Given the description of an element on the screen output the (x, y) to click on. 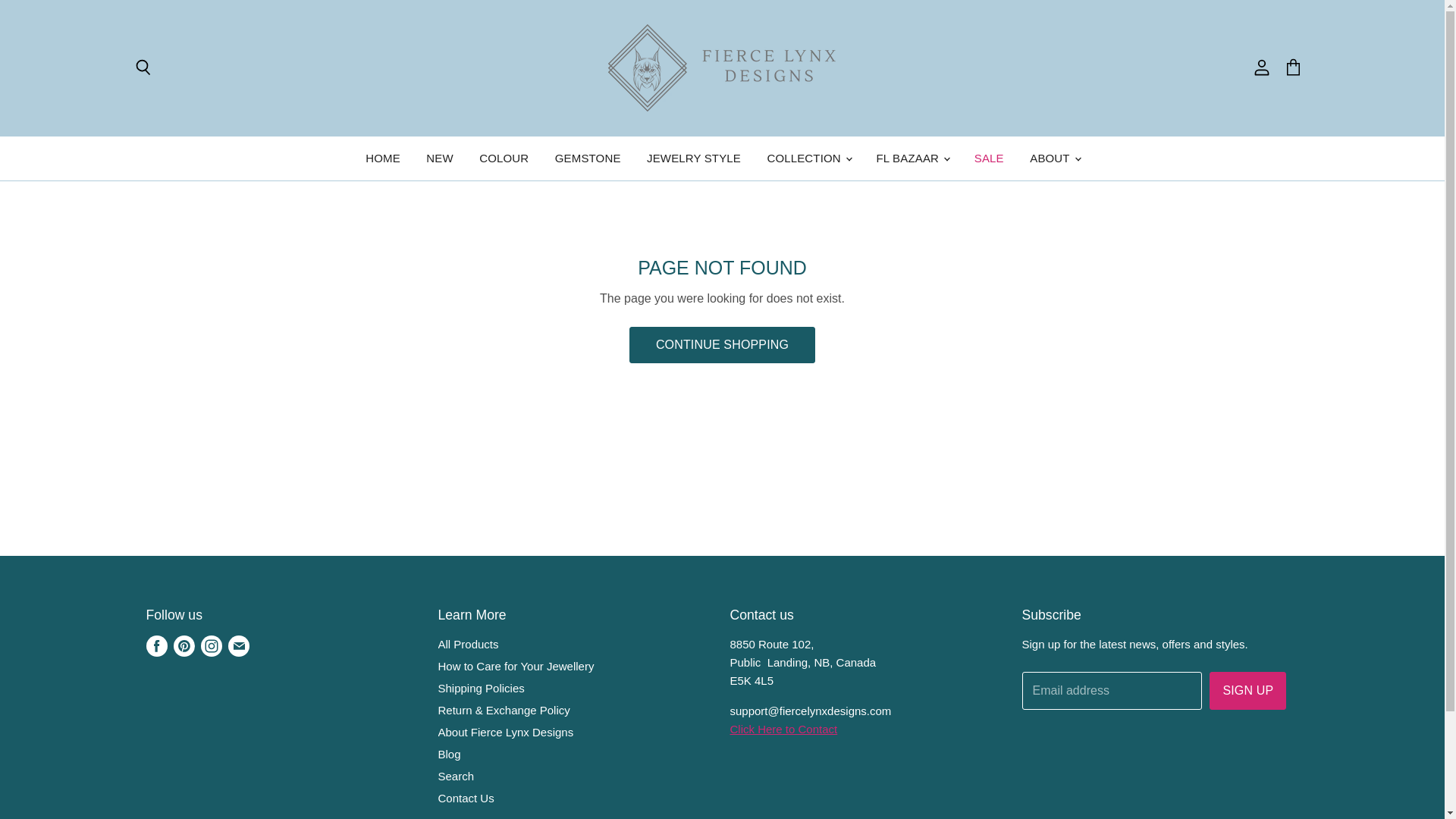
COLLECTION (808, 158)
Instagram (210, 646)
GEMSTONE (587, 158)
Search (141, 67)
SALE (988, 158)
Facebook (156, 646)
FL BAZAAR (911, 158)
NEW (439, 158)
E-mail (237, 646)
Pinterest (183, 646)
